Given the description of an element on the screen output the (x, y) to click on. 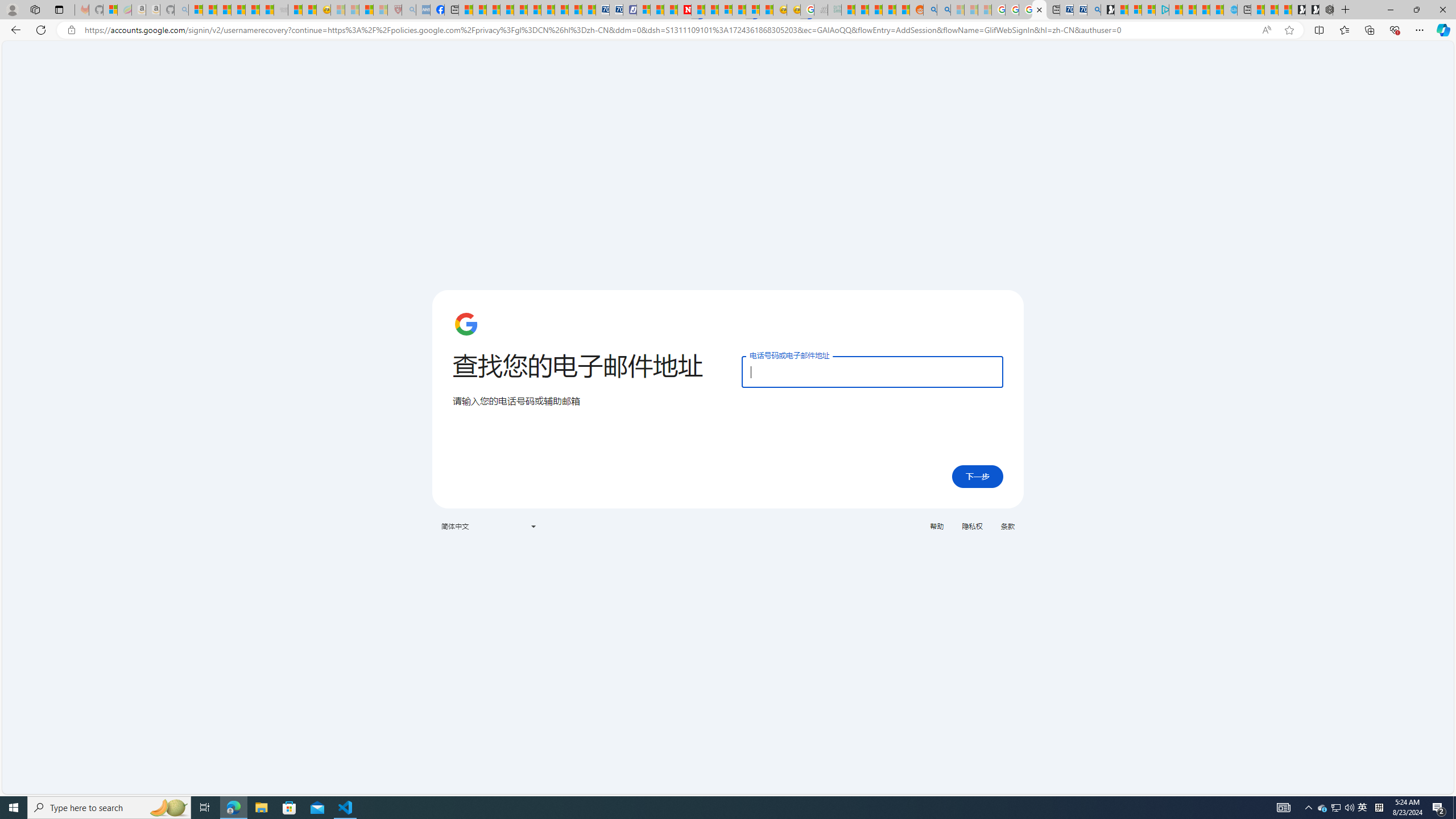
Cheap Hotels - Save70.com (615, 9)
Newsweek - News, Analysis, Politics, Business, Technology (683, 9)
Play Free Online Games | Games from Microsoft Start (1311, 9)
Cheap Car Rentals - Save70.com (1080, 9)
Climate Damage Becomes Too Severe To Reverse (506, 9)
